Given the description of an element on the screen output the (x, y) to click on. 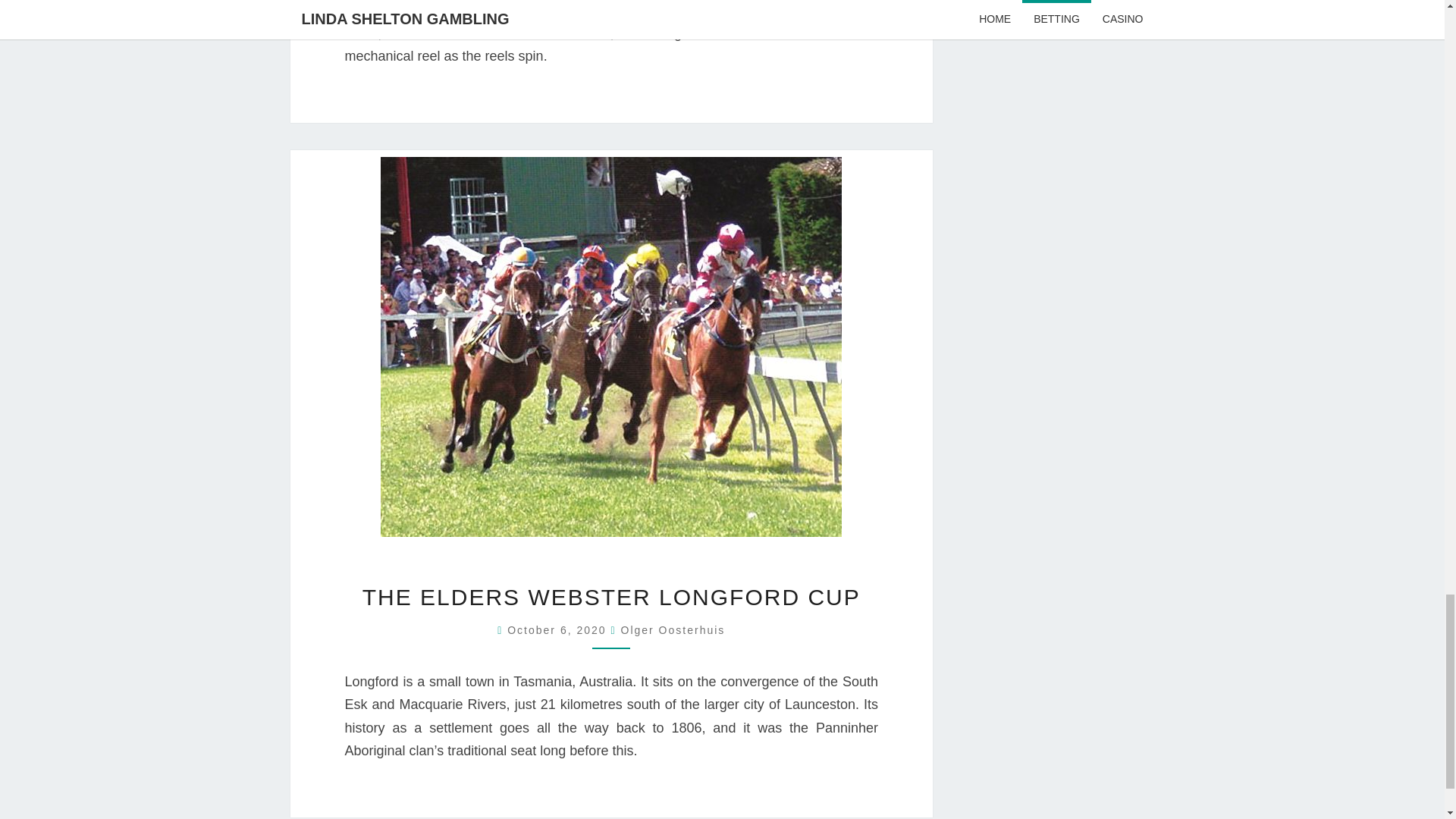
6:56 am (558, 630)
View all posts by Olger Oosterhuis (672, 630)
Olger Oosterhuis (672, 630)
THE ELDERS WEBSTER LONGFORD CUP (611, 596)
October 6, 2020 (558, 630)
